Given the description of an element on the screen output the (x, y) to click on. 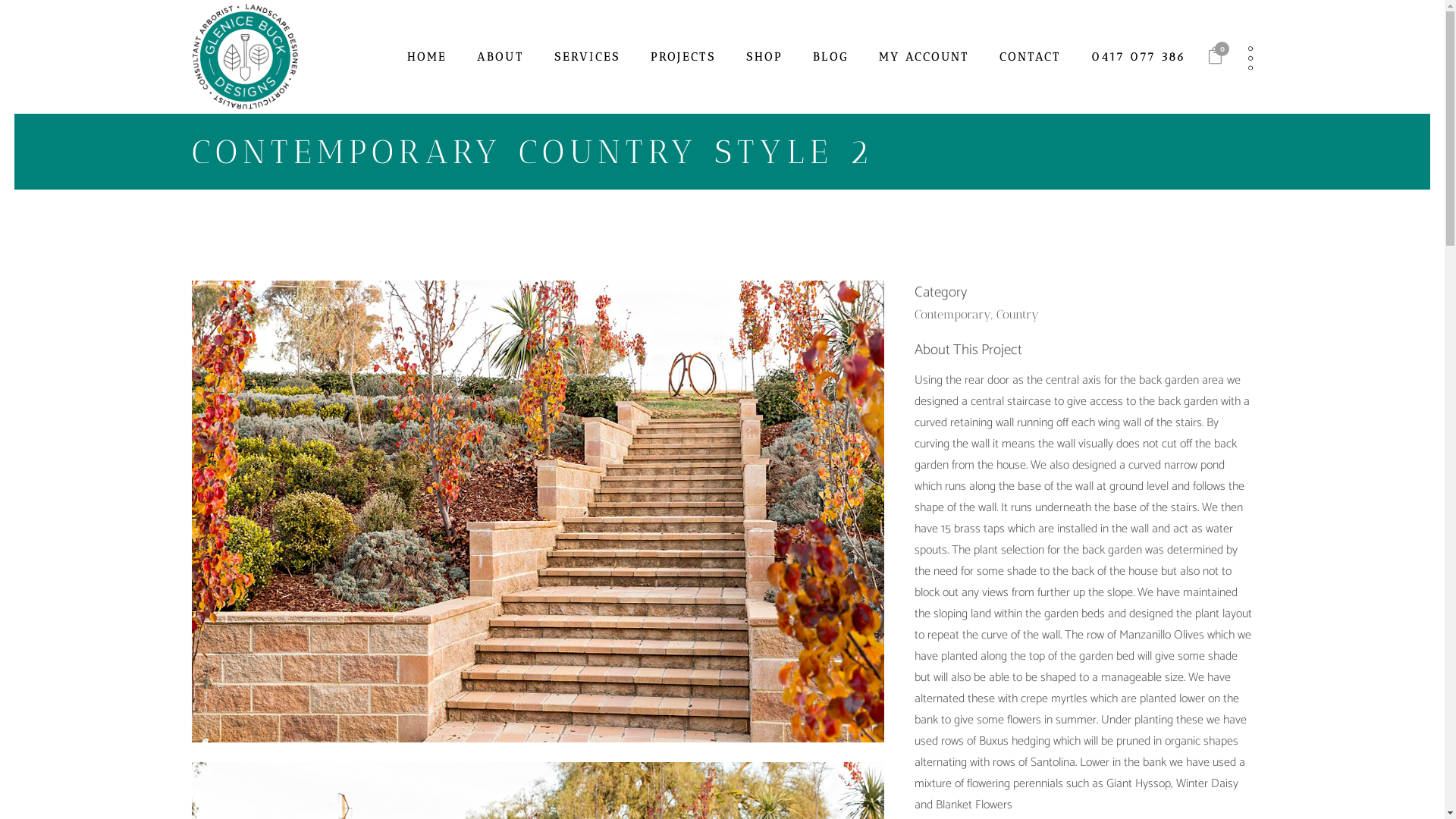
PROJECTS Element type: text (683, 56)
SERVICES Element type: text (587, 56)
BLOG Element type: text (830, 56)
ABOUT Element type: text (500, 56)
MY ACCOUNT Element type: text (923, 56)
0 Element type: text (1214, 57)
SHOP Element type: text (764, 56)
CONTACT Element type: text (1030, 56)
HOME Element type: text (426, 56)
0417 077 386 Element type: text (1138, 56)
